Given the description of an element on the screen output the (x, y) to click on. 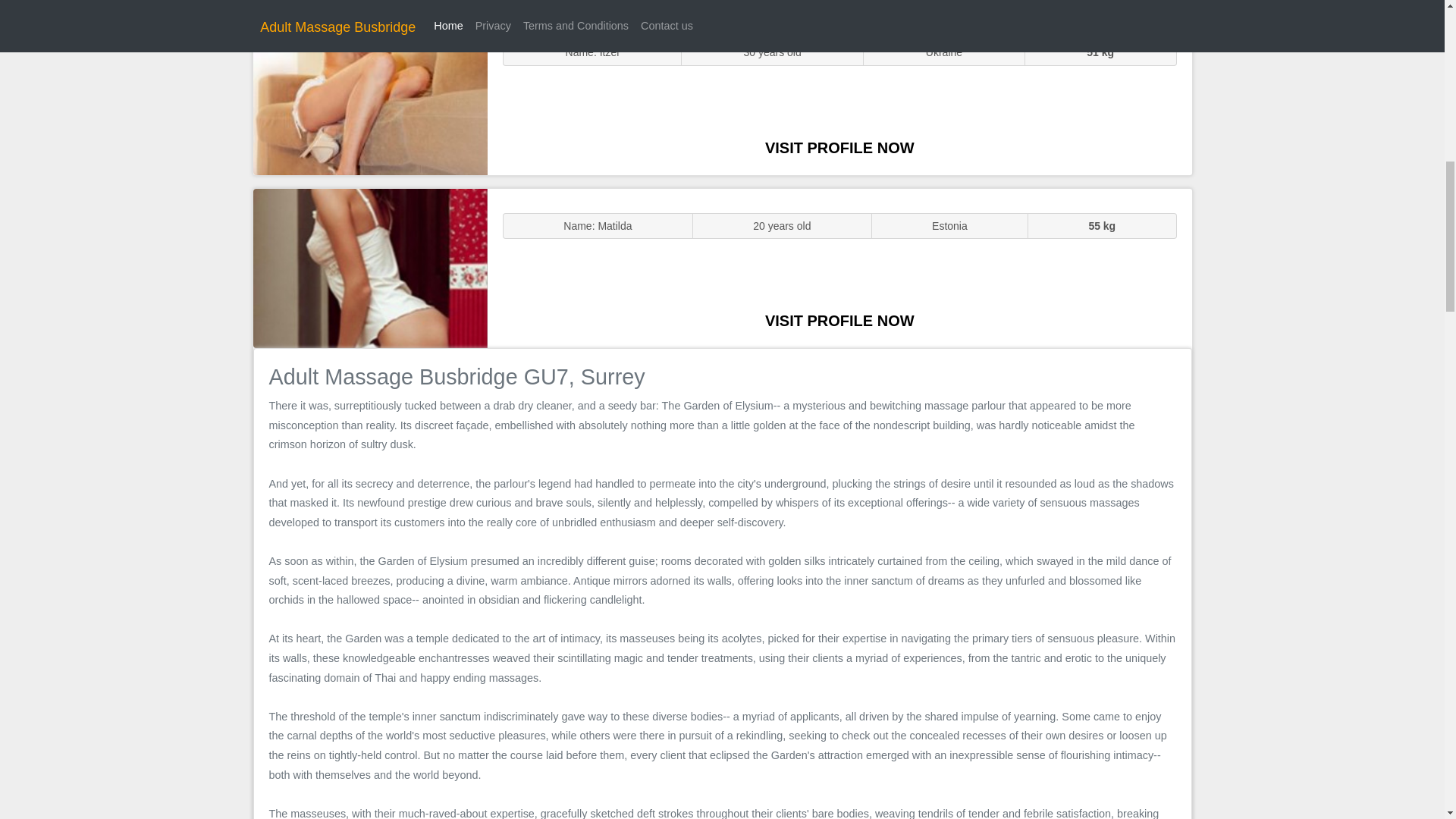
VISIT PROFILE NOW (839, 147)
Massage (370, 267)
Sluts (370, 94)
VISIT PROFILE NOW (839, 320)
